Given the description of an element on the screen output the (x, y) to click on. 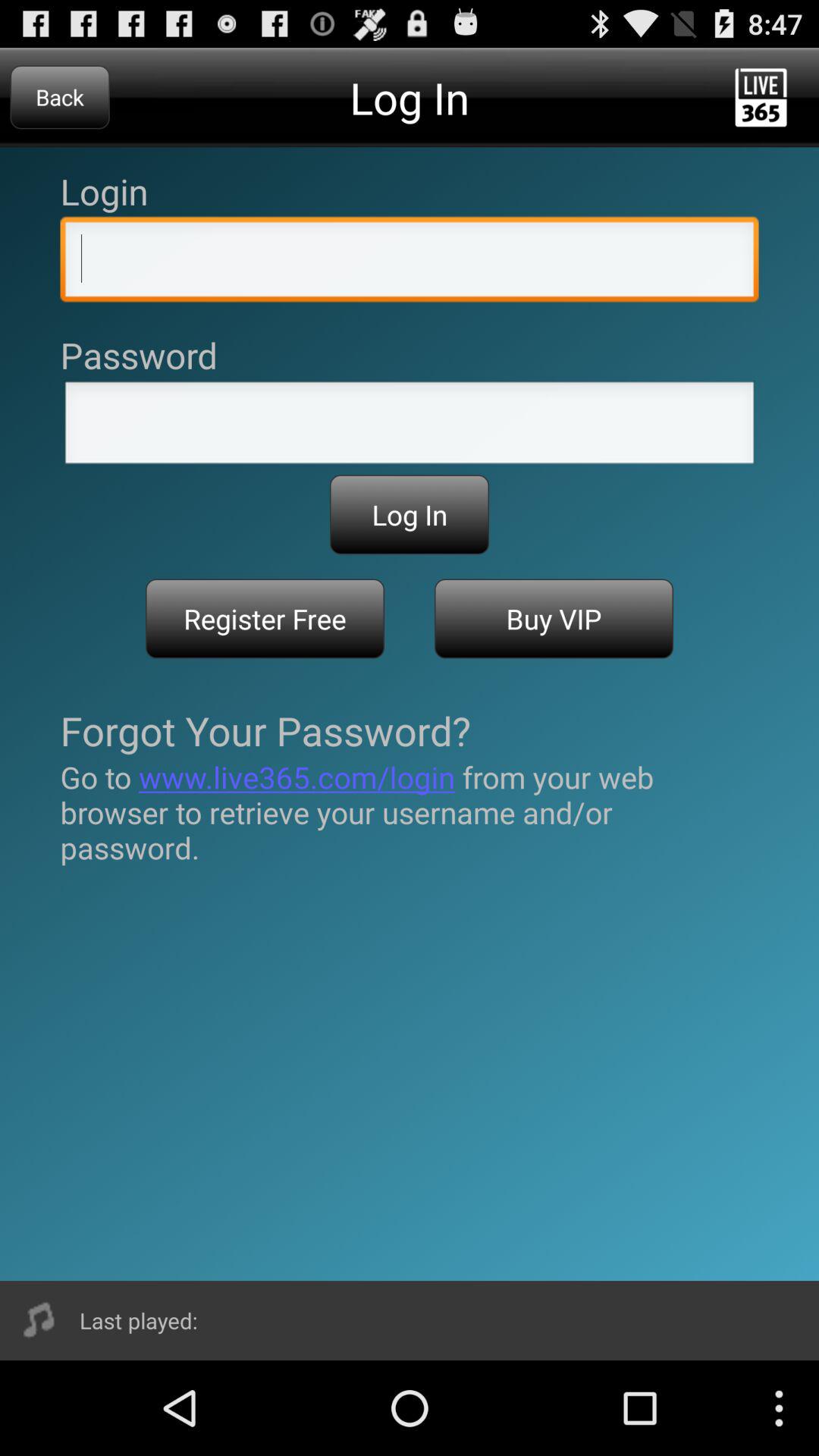
press item below the forgot your password? item (409, 812)
